Given the description of an element on the screen output the (x, y) to click on. 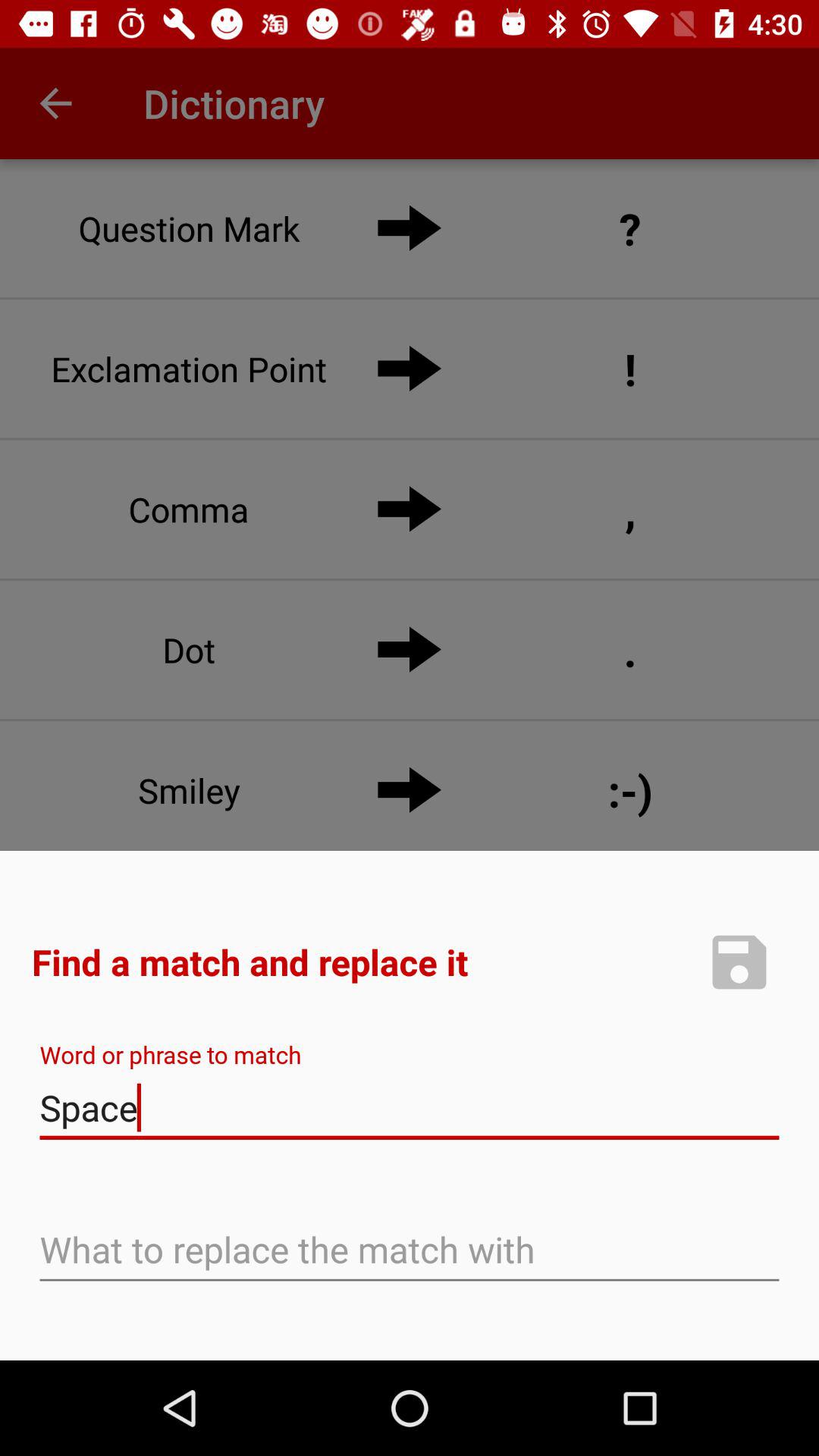
replace textbox (409, 1251)
